Given the description of an element on the screen output the (x, y) to click on. 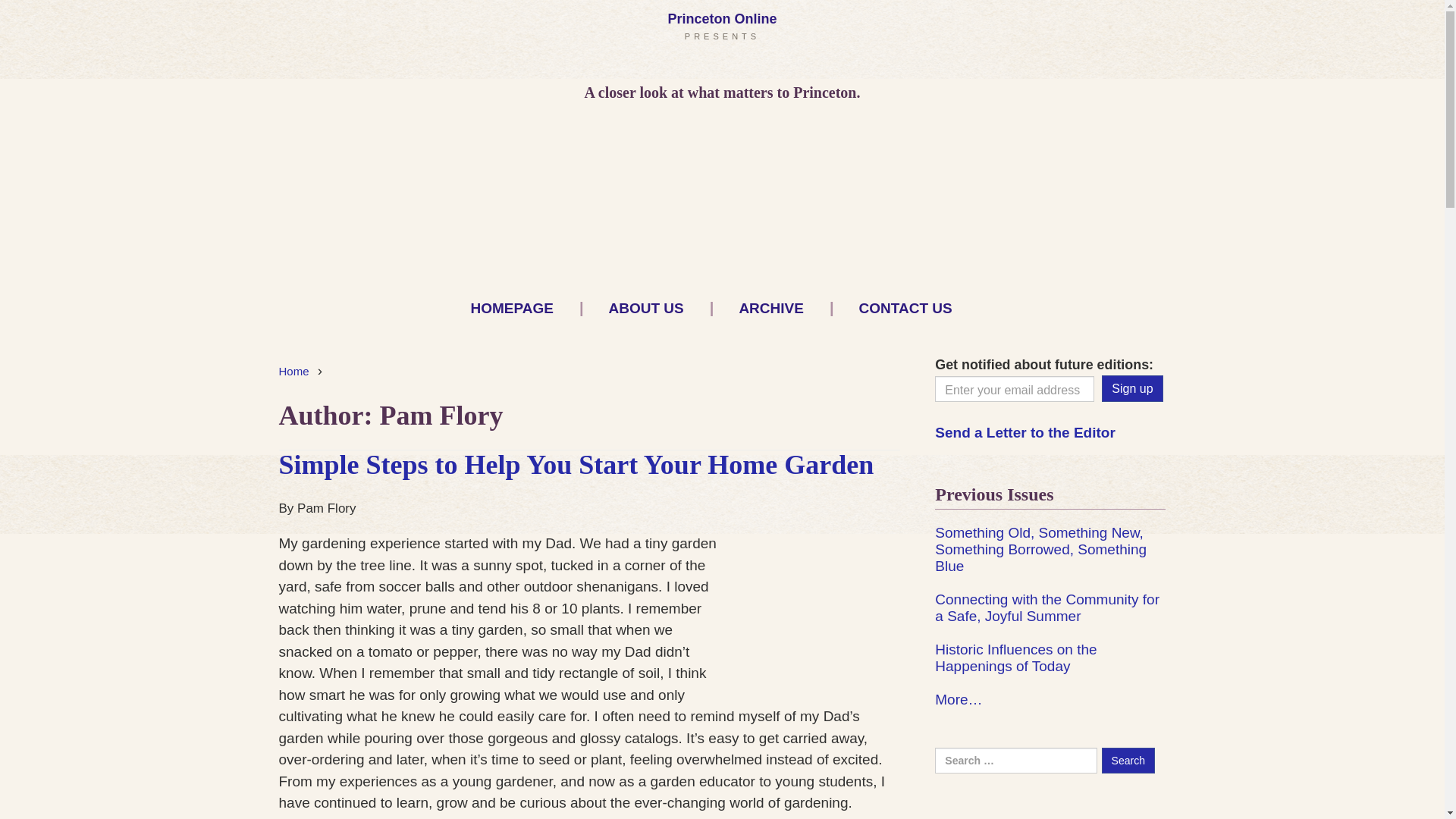
Sign up (1131, 388)
PRESENTS (722, 35)
Send a Letter to the Editor (1024, 432)
Simple Steps to Help You Start Your Home Garden (577, 464)
HOMEPAGE (499, 307)
ABOUT US (633, 307)
Search (1128, 760)
CONTACT US (893, 307)
Home (293, 370)
